Given the description of an element on the screen output the (x, y) to click on. 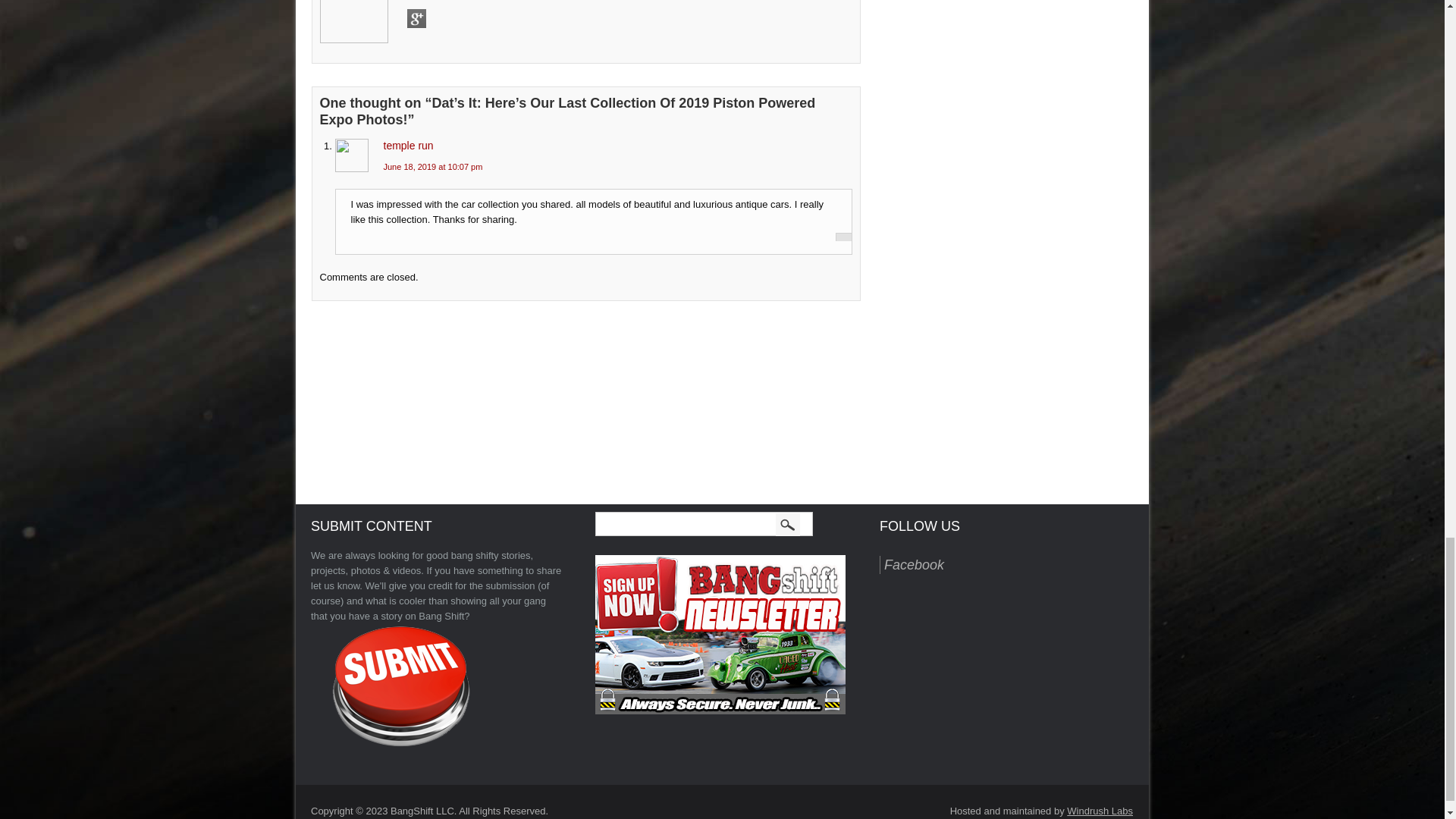
Search (788, 524)
